Given the description of an element on the screen output the (x, y) to click on. 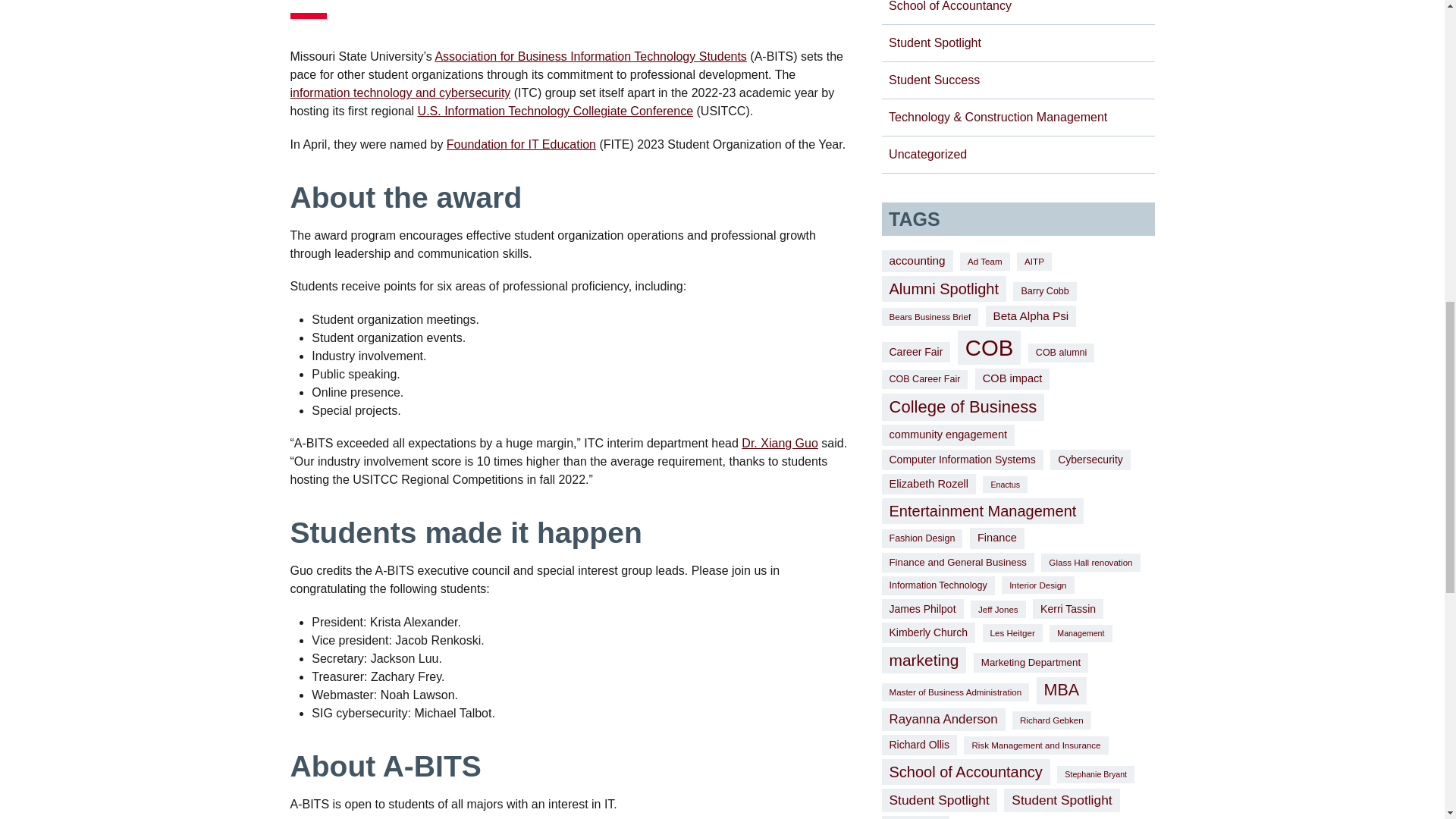
Association for Business Information Technology Students (589, 56)
U.S. Information Technology Collegiate Conference (555, 110)
information technology and cybersecurity (400, 92)
